Given the description of an element on the screen output the (x, y) to click on. 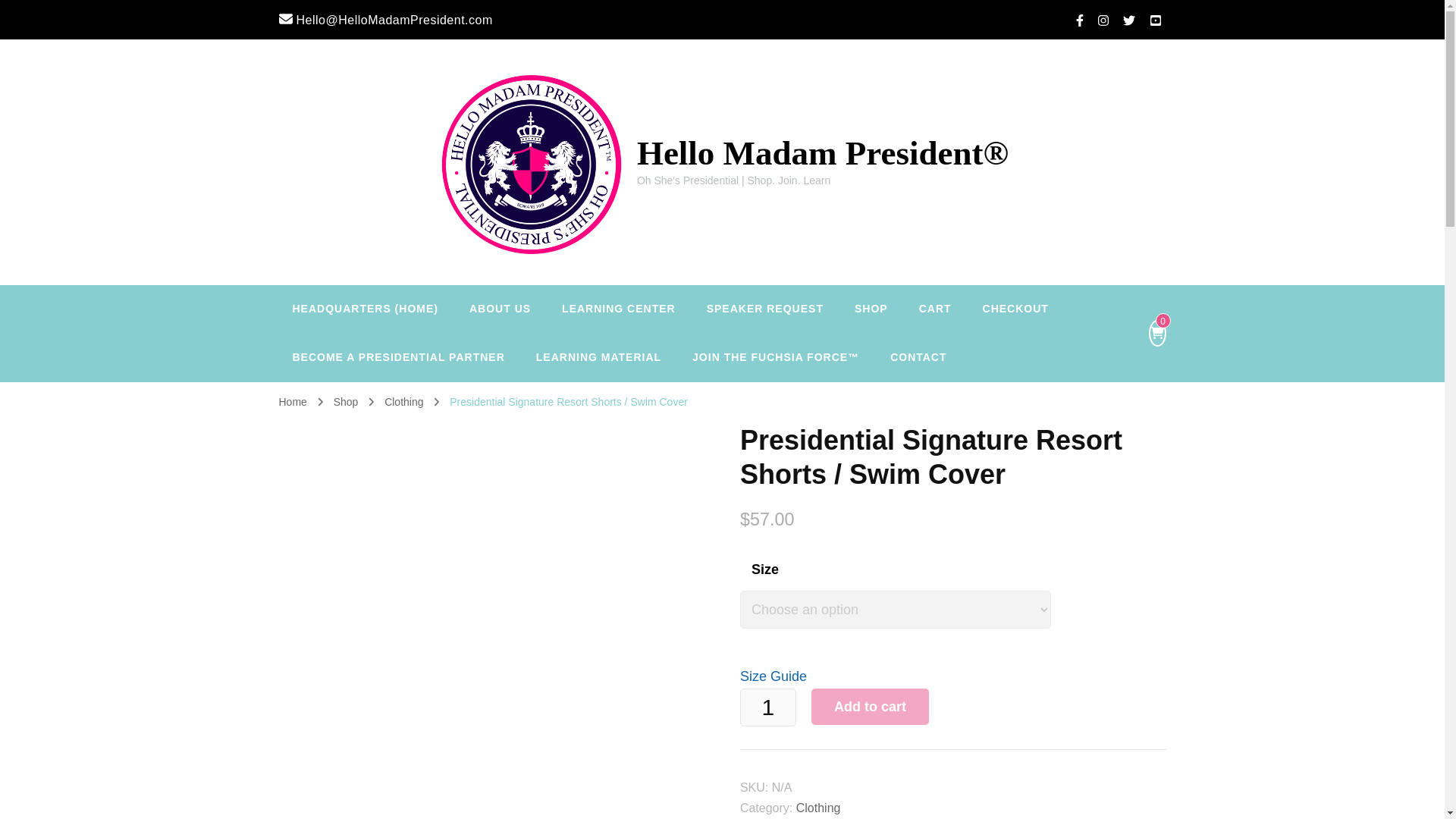
Home (293, 401)
Shop (345, 401)
BECOME A PRESIDENTIAL PARTNER (398, 357)
CONTACT (917, 357)
CART (935, 309)
SPEAKER REQUEST (765, 309)
1 (767, 707)
ABOUT US (499, 309)
SHOP (871, 309)
Clothing (405, 401)
